Given the description of an element on the screen output the (x, y) to click on. 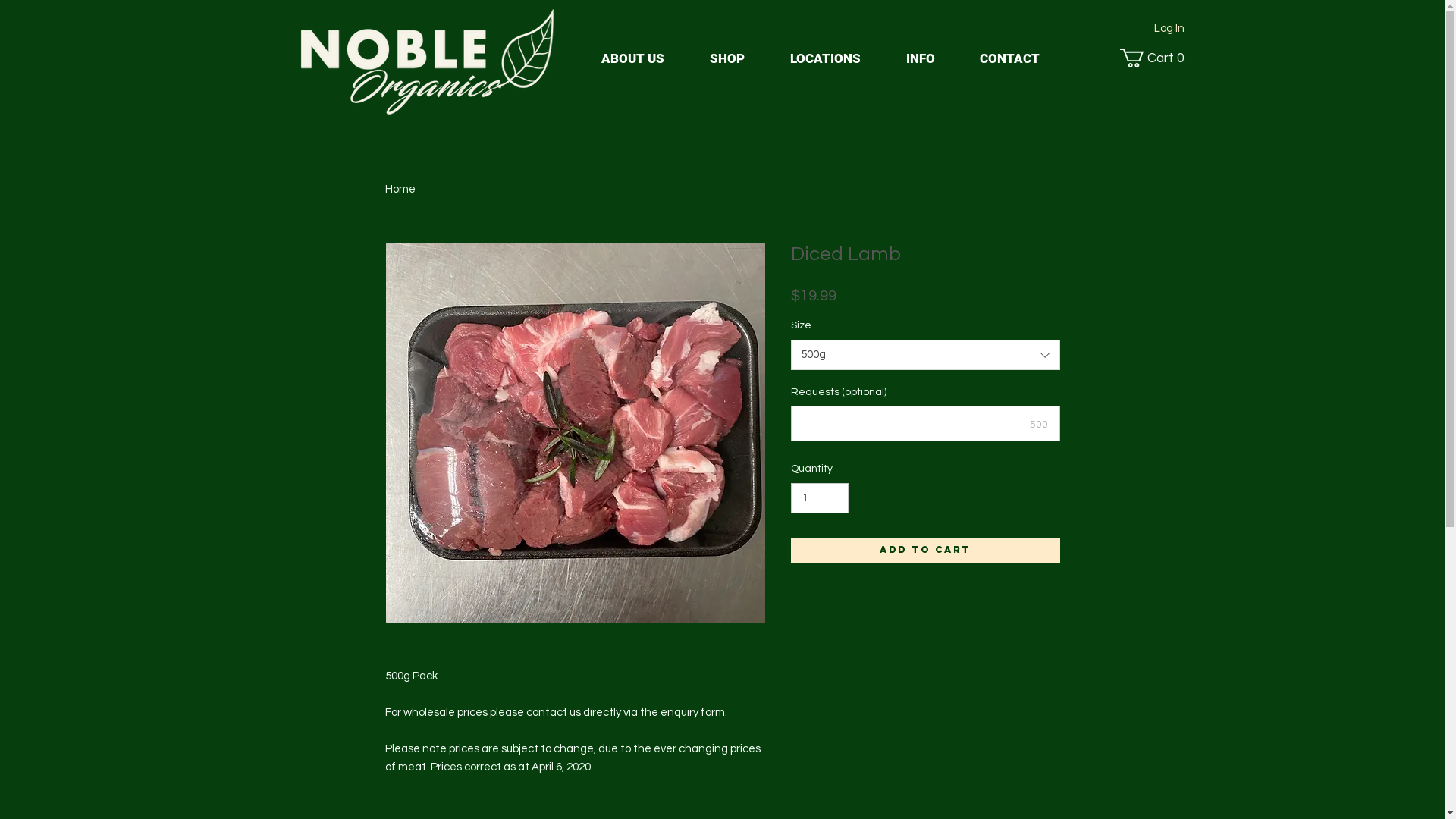
SHOP Element type: text (727, 58)
INFO Element type: text (919, 58)
CONTACT Element type: text (1009, 58)
LOCATIONS Element type: text (825, 58)
Home Element type: text (400, 188)
Log In Element type: text (1169, 27)
500g Element type: text (924, 354)
Add to Cart Element type: text (924, 549)
ABOUT US Element type: text (631, 58)
Cart
0 Element type: text (1155, 57)
